Given the description of an element on the screen output the (x, y) to click on. 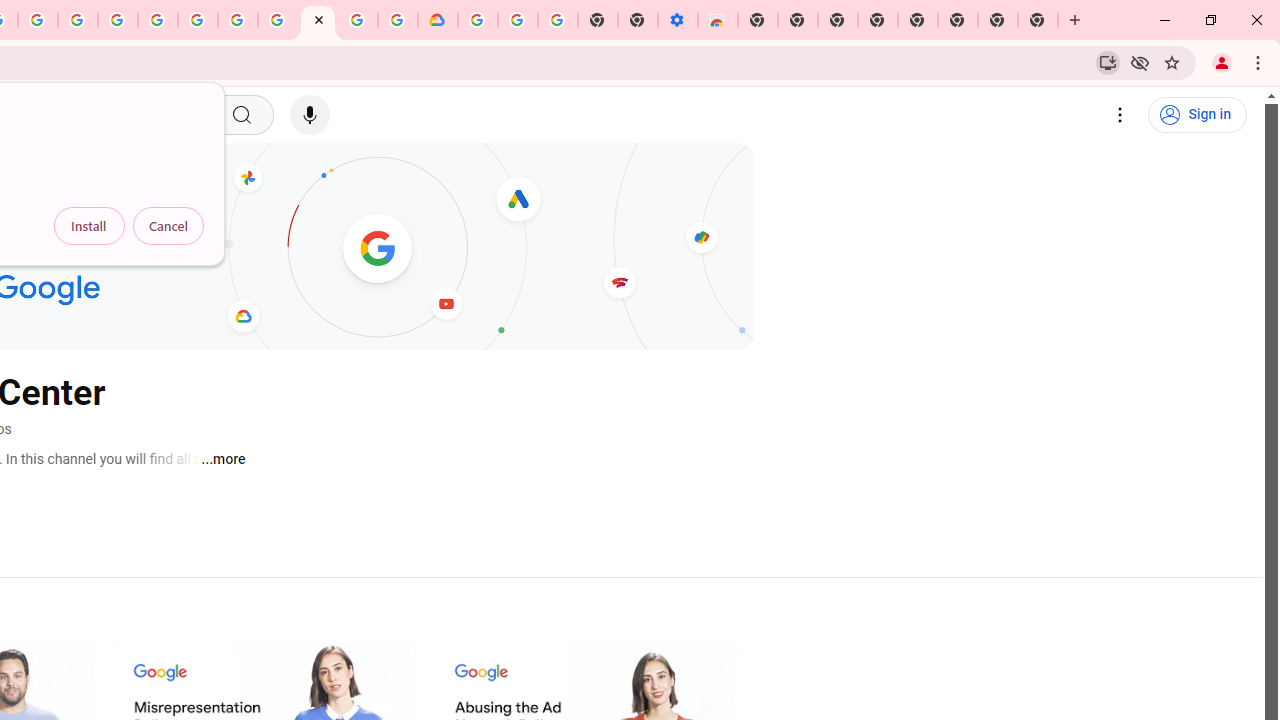
Install (89, 225)
Browse the Google Chrome Community - Google Chrome Community (397, 20)
Settings - Accessibility (677, 20)
Create your Google Account (37, 20)
Android TV Policies and Guidelines - Transparency Center (278, 20)
Google Account Help (237, 20)
New Tab (1037, 20)
Sign in - Google Accounts (157, 20)
Turn cookies on or off - Computer - Google Account Help (557, 20)
